Given the description of an element on the screen output the (x, y) to click on. 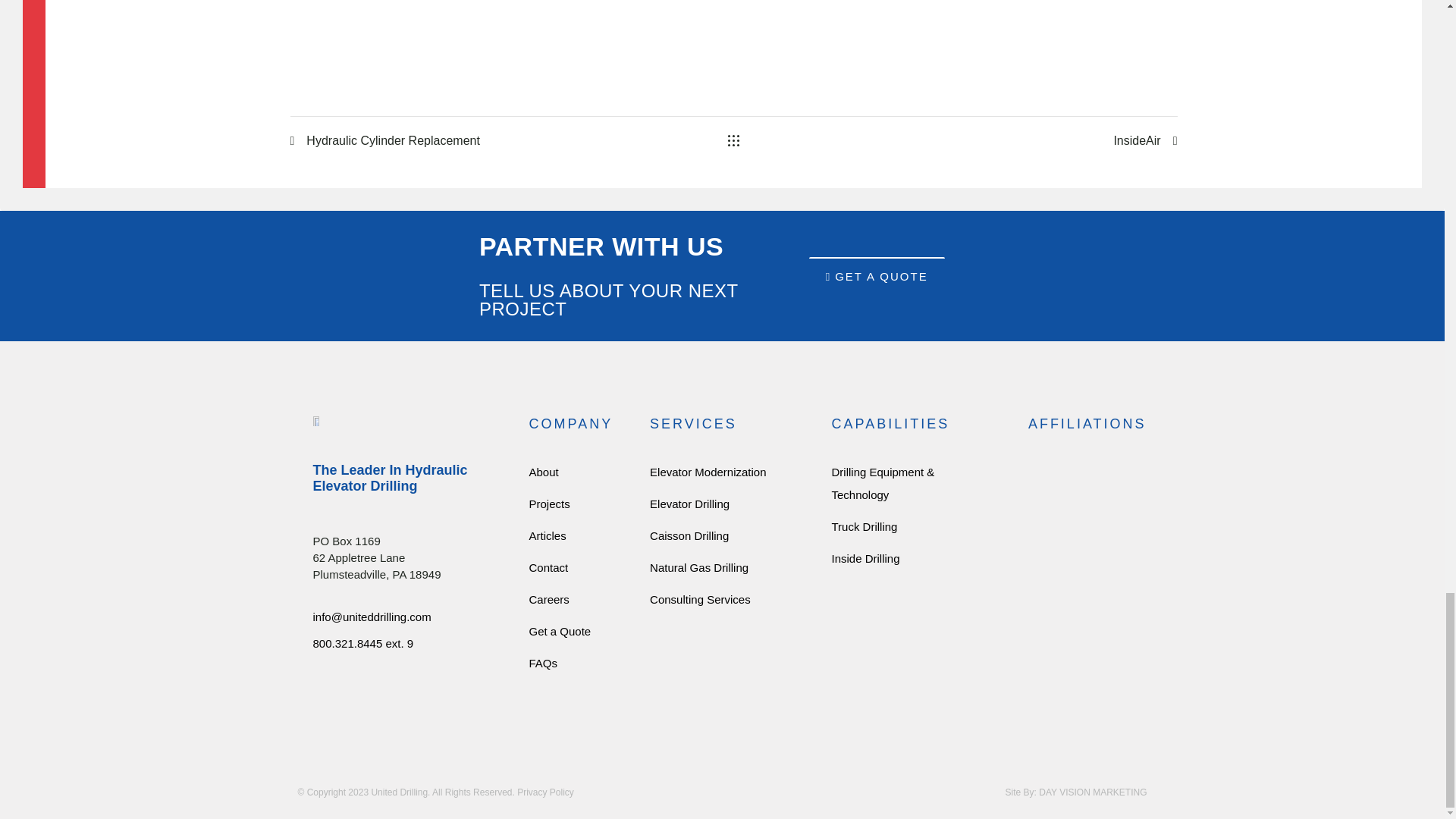
united drilling - Elevator Drilling Services (317, 420)
Natural Gas Drilling (724, 567)
NCI-logo - Elevator Drilling Services (1054, 480)
Elevator Modernization (724, 472)
Consulting Services (724, 599)
IEAC-logo - Elevator Drilling Services (1054, 534)
GET A QUOTE (876, 275)
iuecbw-logo - Elevator Drilling Services (1054, 604)
Elevator Drilling (377, 565)
